Given the description of an element on the screen output the (x, y) to click on. 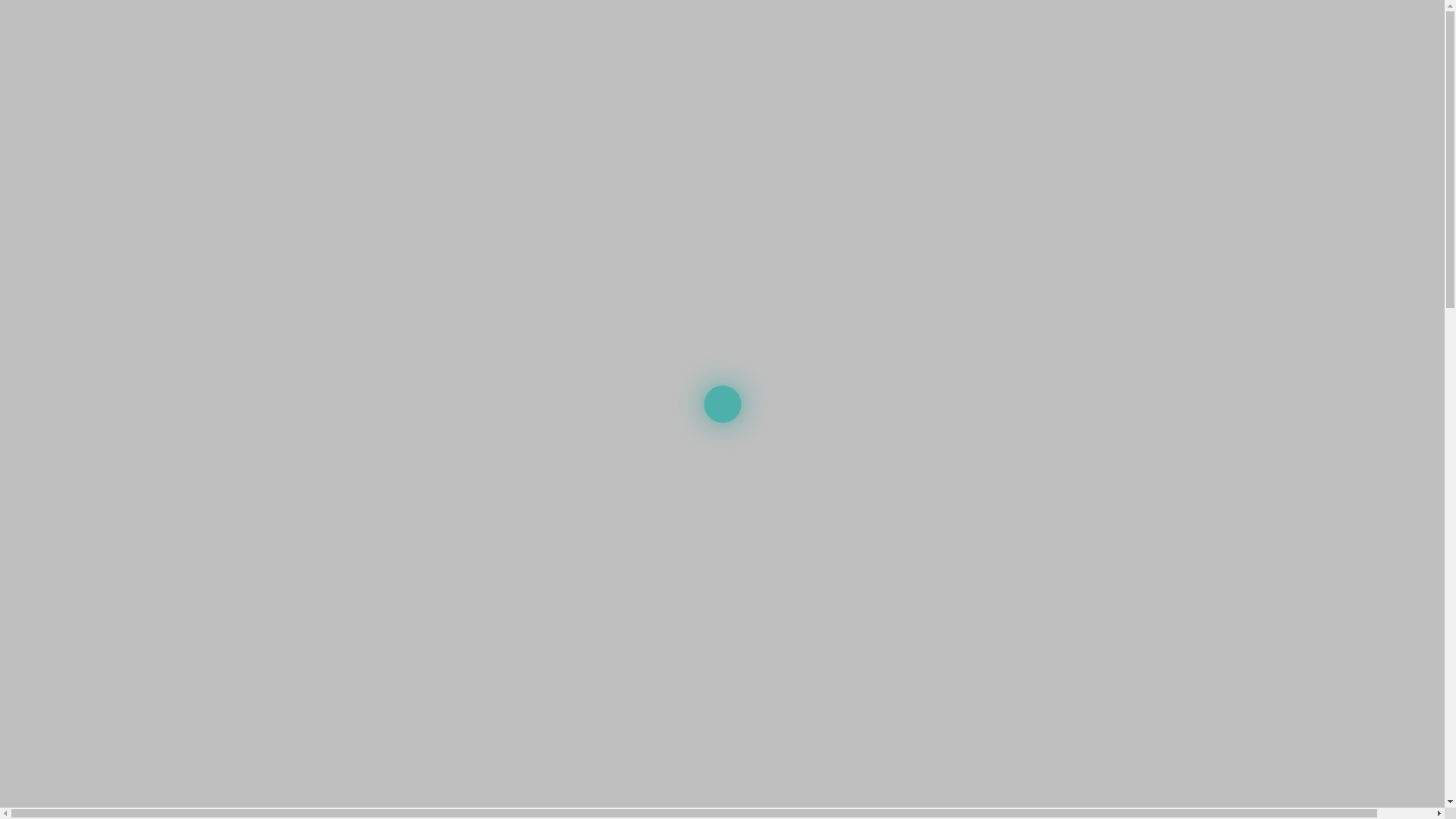
expert team Element type: text (572, 515)
SEARCH Element type: text (559, 24)
Home Element type: text (389, 85)
Get a Quote Element type: text (1093, 22)
Our Thinking Element type: text (529, 85)
Products Element type: text (612, 85)
Contact Element type: text (750, 85)
Your Team Element type: text (450, 85)
Omninews Element type: text (689, 85)
1800 958 384 Element type: text (840, 82)
